Given the description of an element on the screen output the (x, y) to click on. 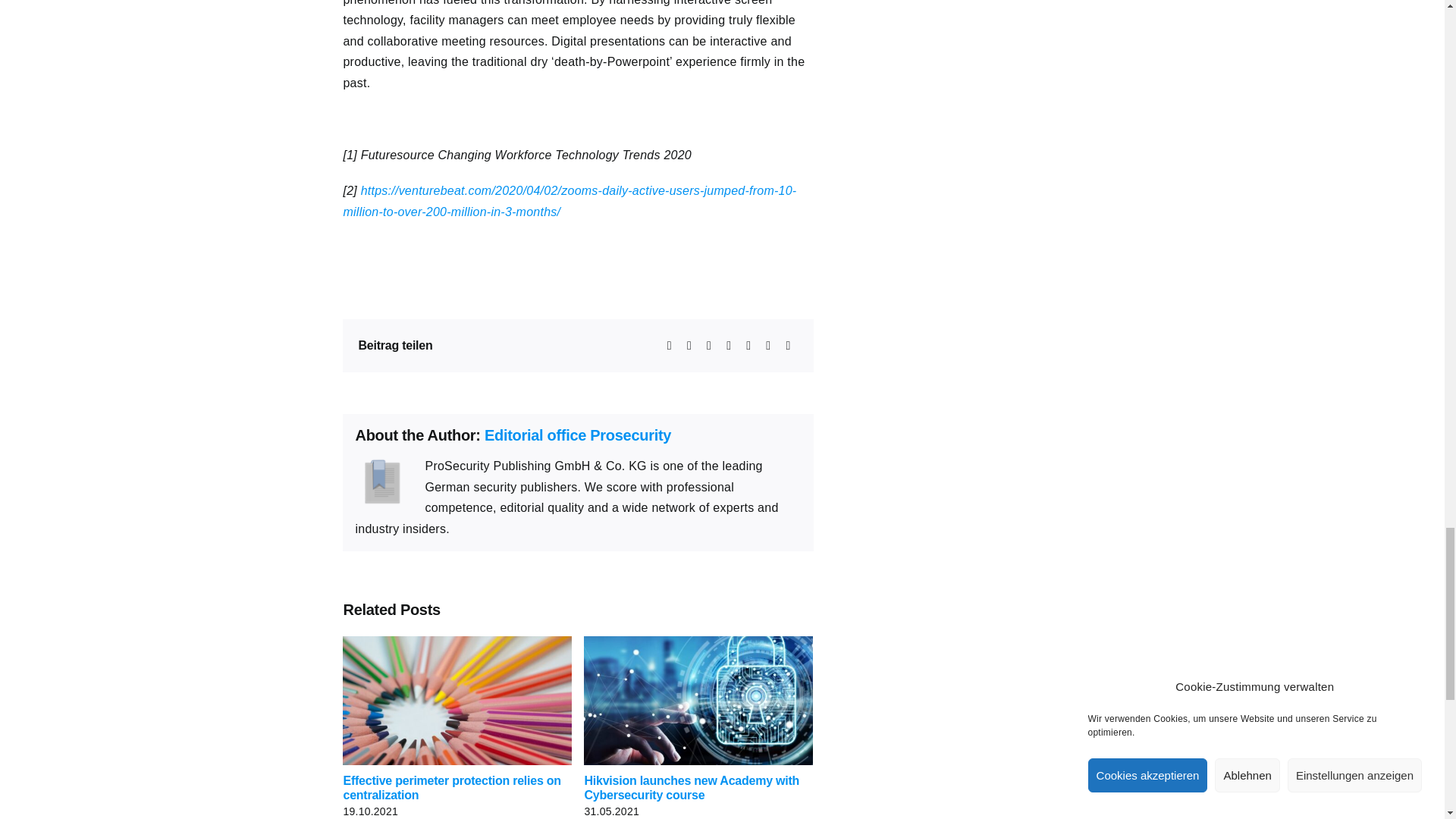
Effective perimeter protection relies on centralization (451, 787)
Hikvision launches new Academy with Cybersecurity course (691, 787)
